Given the description of an element on the screen output the (x, y) to click on. 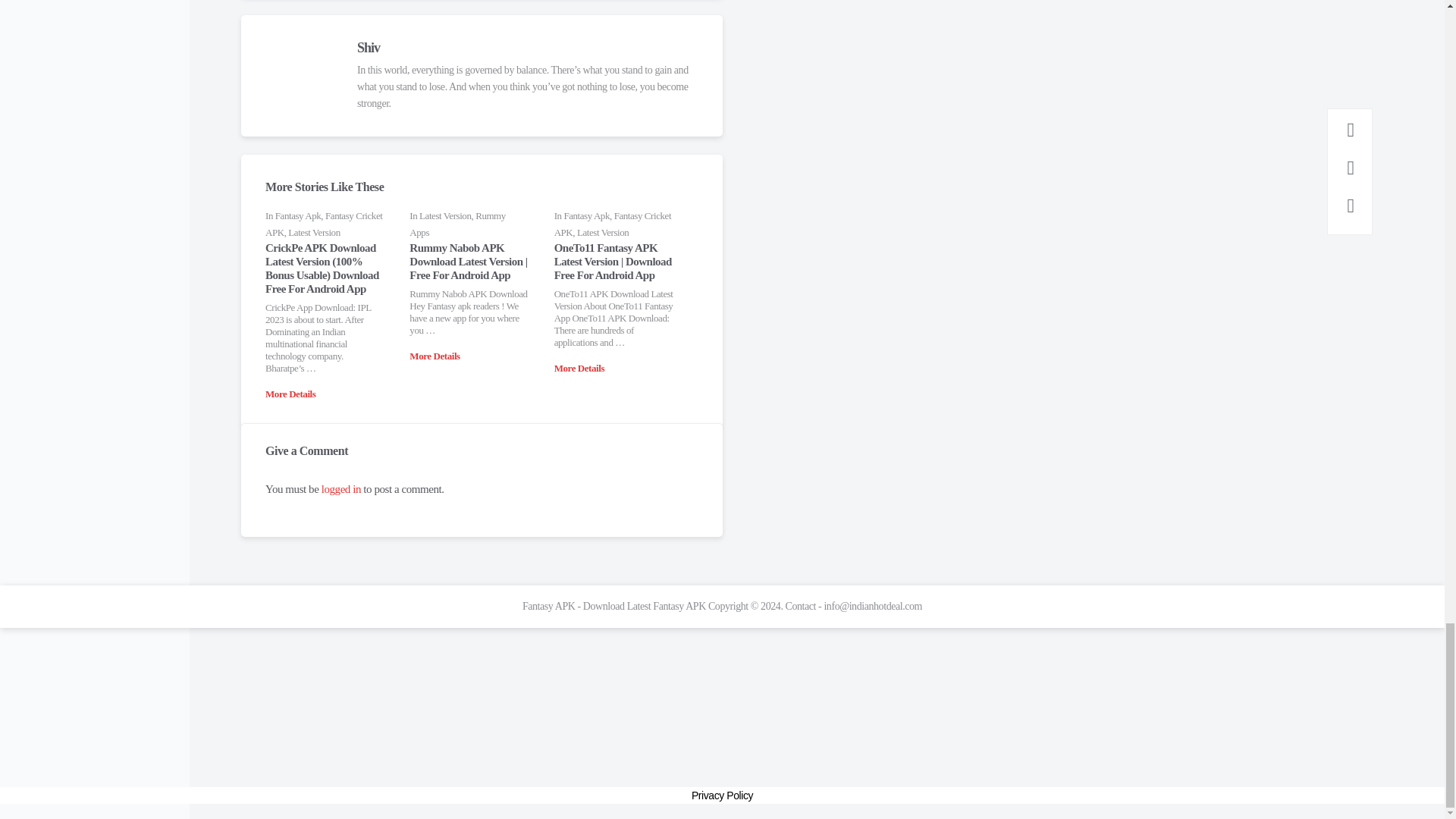
View all posts in Fantasy Cricket APK (322, 223)
View all posts in Fantasy Apk (298, 215)
View all posts in Latest Version (313, 232)
